Given the description of an element on the screen output the (x, y) to click on. 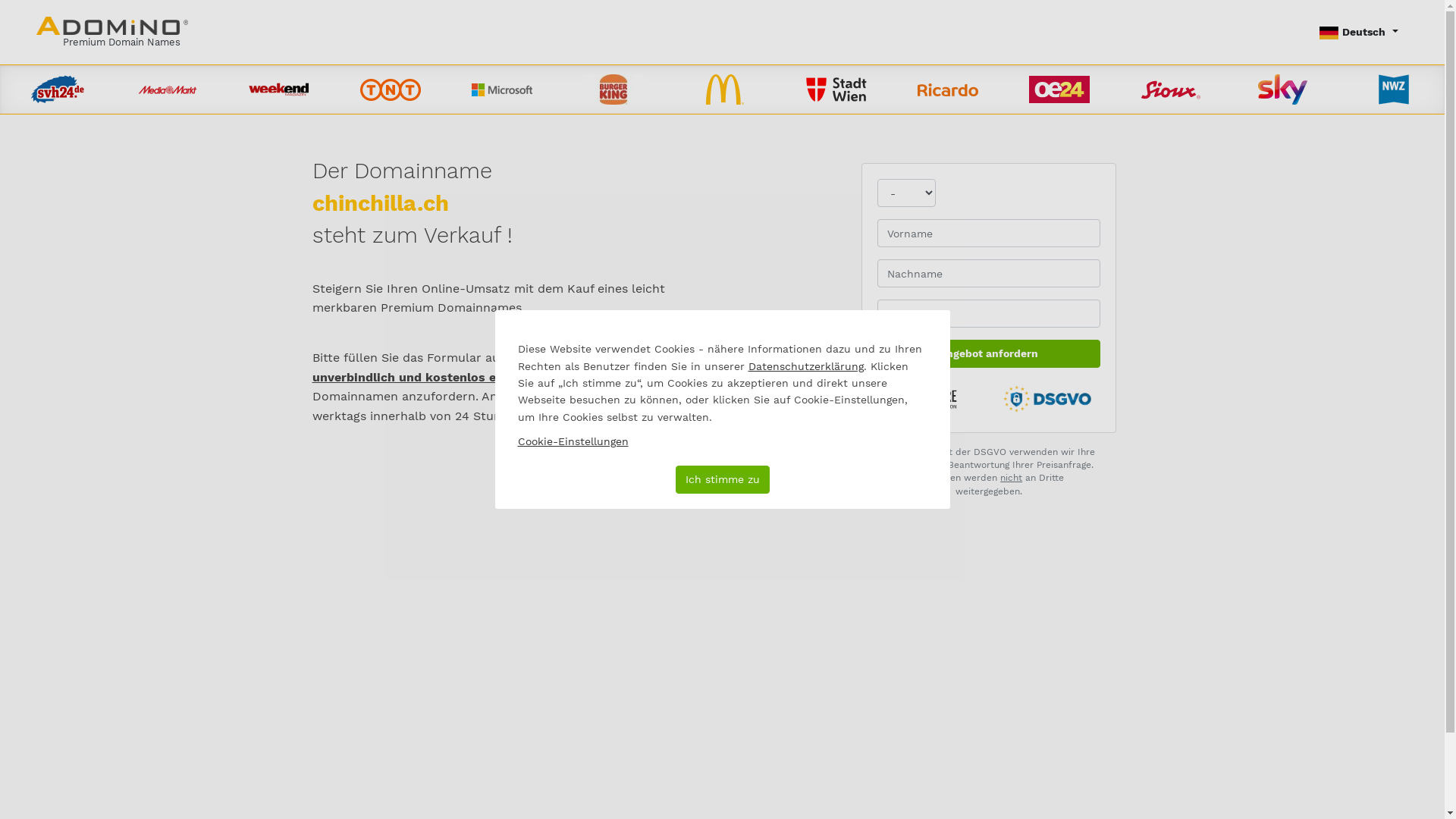
Angebot anfordern Element type: text (989, 353)
Premium Domain Names Element type: text (112, 31)
Cookie-Einstellungen Element type: text (572, 441)
Deutsch Element type: text (1358, 32)
Ich stimme zu Element type: text (721, 479)
